Given the description of an element on the screen output the (x, y) to click on. 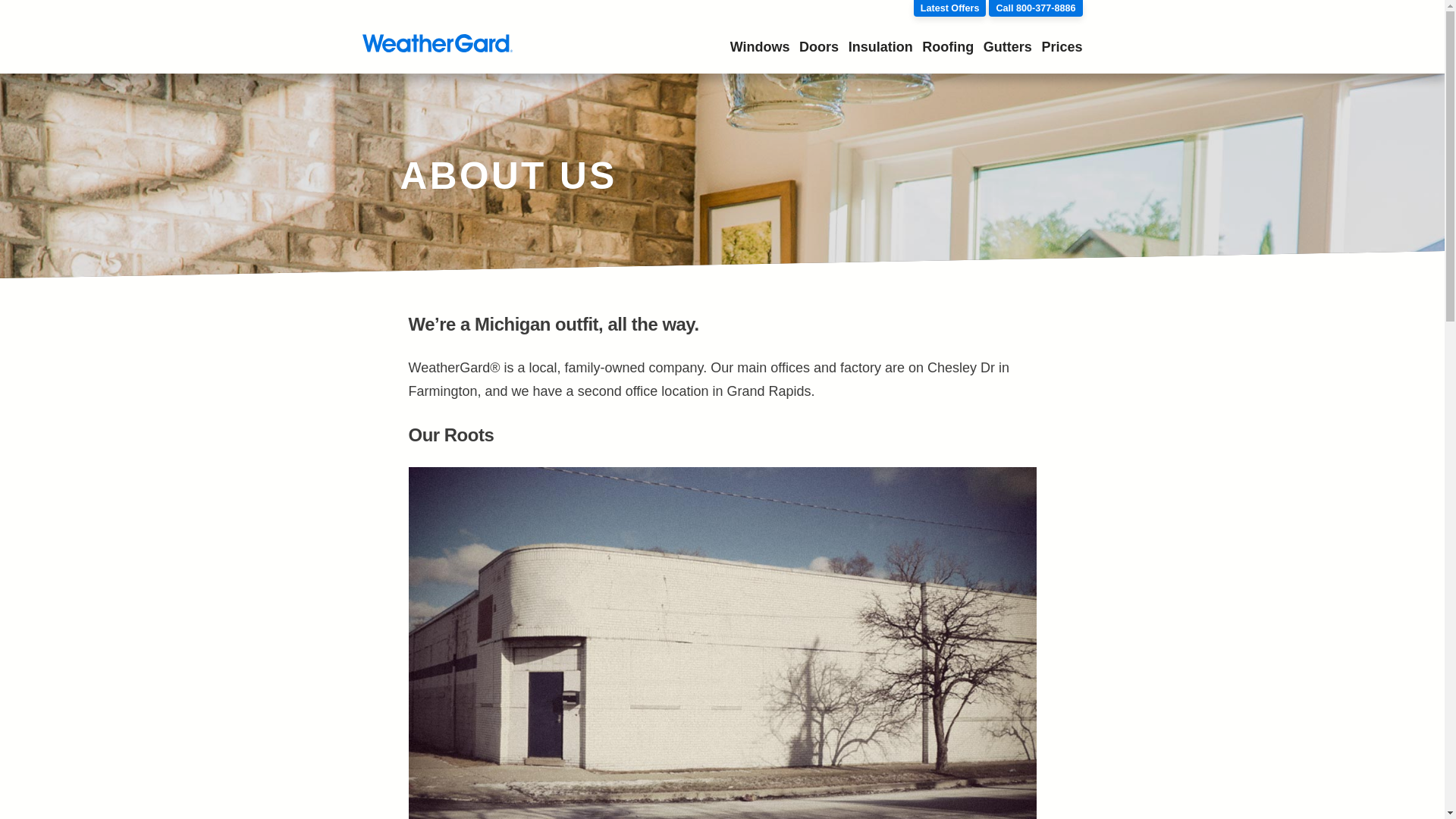
Replacement Windows (760, 46)
Latest Offers (950, 8)
Entry Doors (818, 46)
Doors (818, 46)
Insulation (880, 46)
Prices (1061, 46)
Windows (760, 46)
Roofing (947, 46)
Gutters (1008, 46)
